Given the description of an element on the screen output the (x, y) to click on. 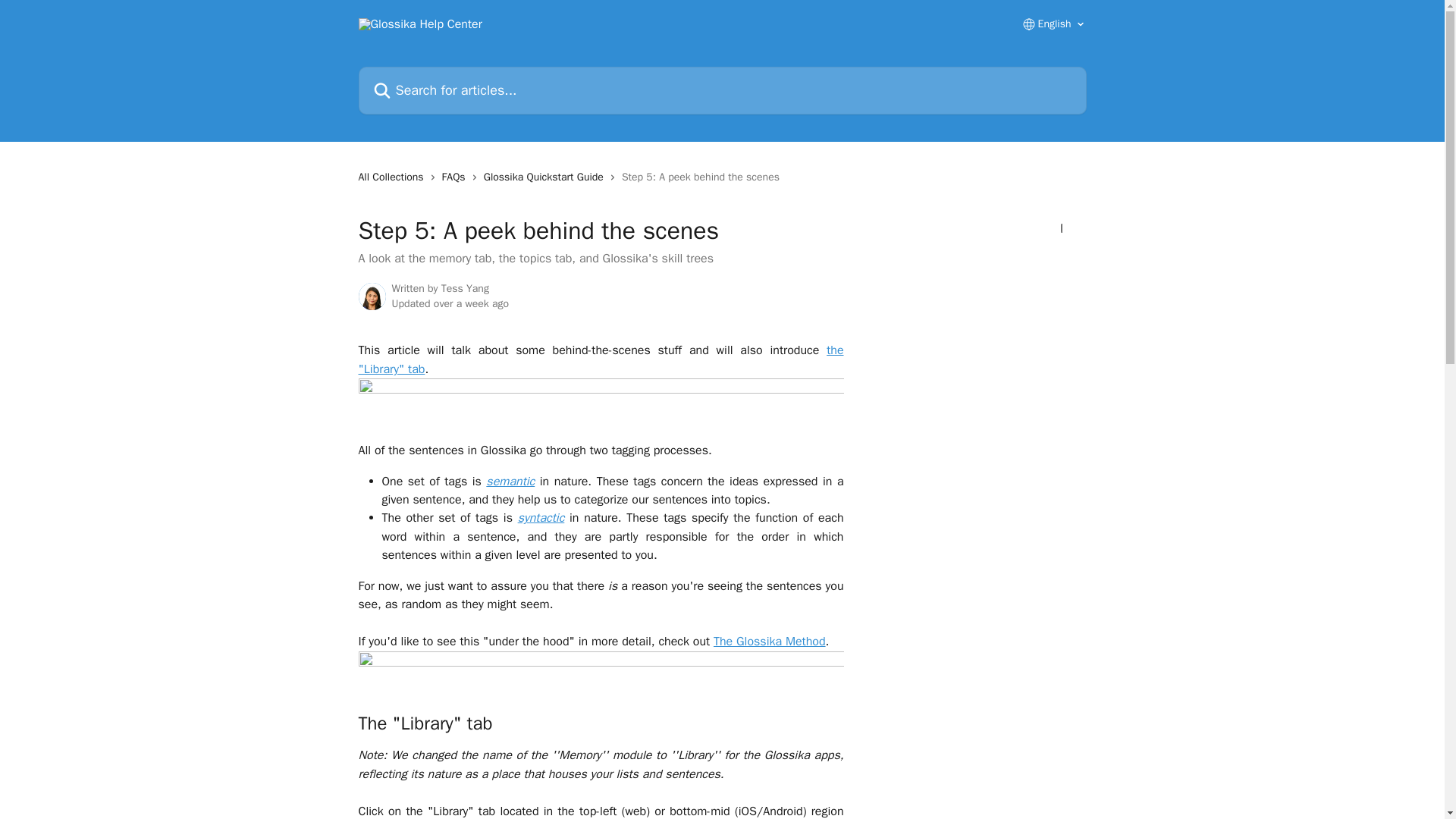
The Glossika Method (769, 641)
the "Library" tab (600, 359)
FAQs (456, 176)
semantic (510, 481)
Glossika Quickstart Guide (546, 176)
All Collections (393, 176)
syntactic (541, 517)
